Given the description of an element on the screen output the (x, y) to click on. 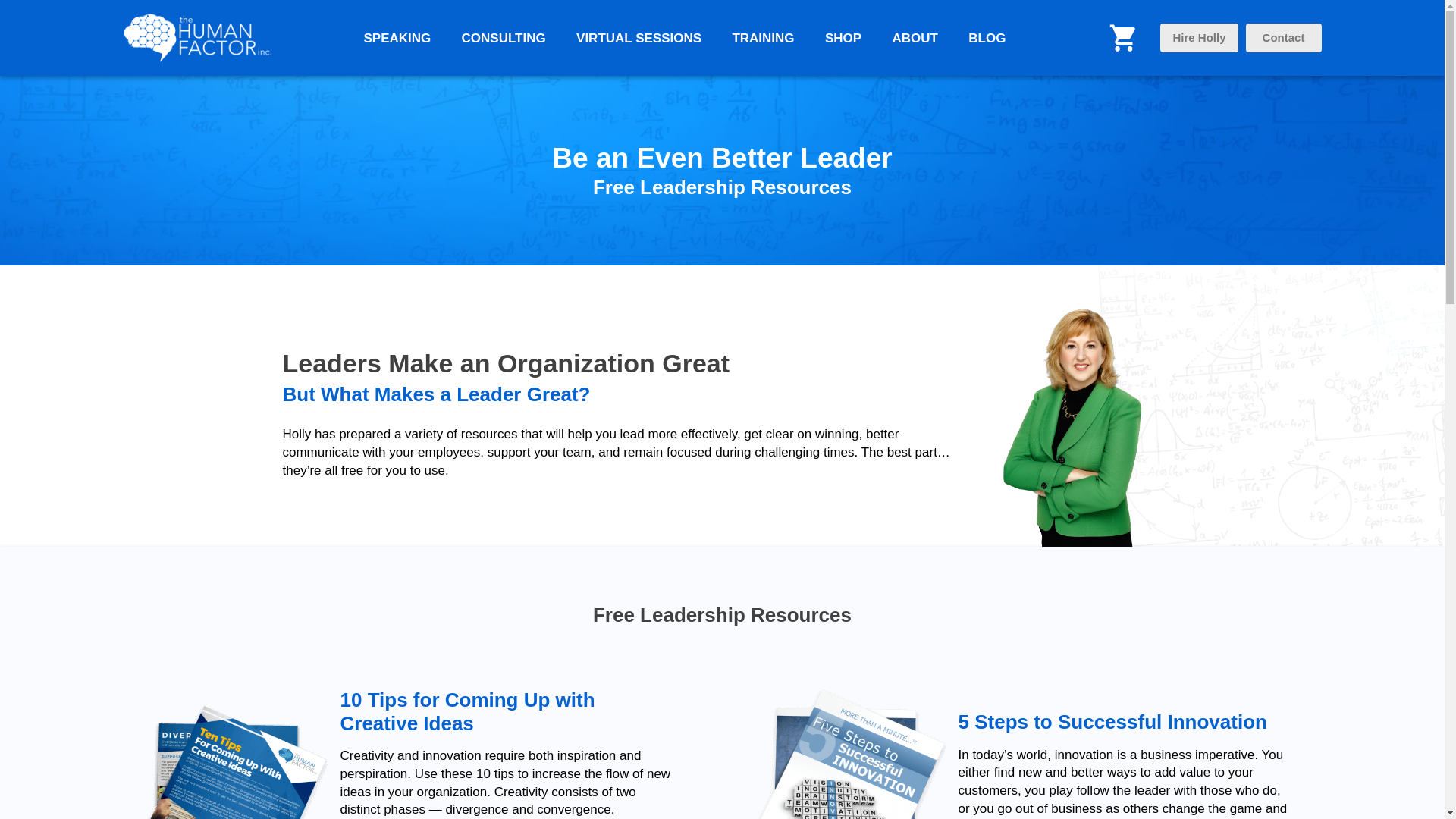
View your shopping cart (1123, 29)
Holly-Green-0350 (1077, 421)
SPEAKING (397, 38)
TRAINING (762, 38)
CONSULTING (503, 38)
BLOG (986, 38)
SHOP (842, 38)
VIRTUAL SESSIONS (638, 38)
ABOUT (914, 38)
